Given the description of an element on the screen output the (x, y) to click on. 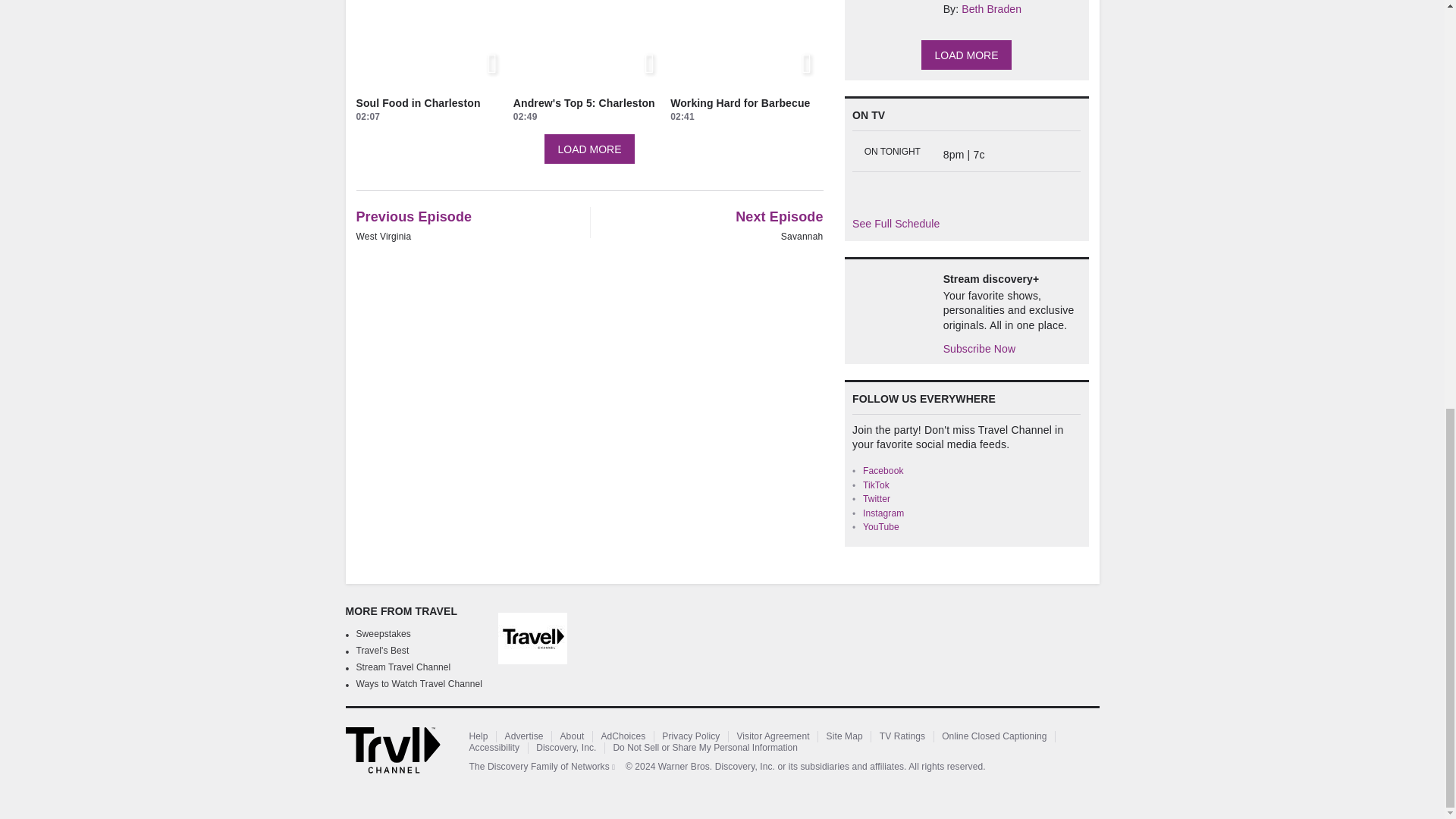
Sweepstakes (383, 633)
Travel's Best (382, 650)
Stream Travel Channel (403, 666)
Ways to Watch Travel Channel (419, 683)
